Given the description of an element on the screen output the (x, y) to click on. 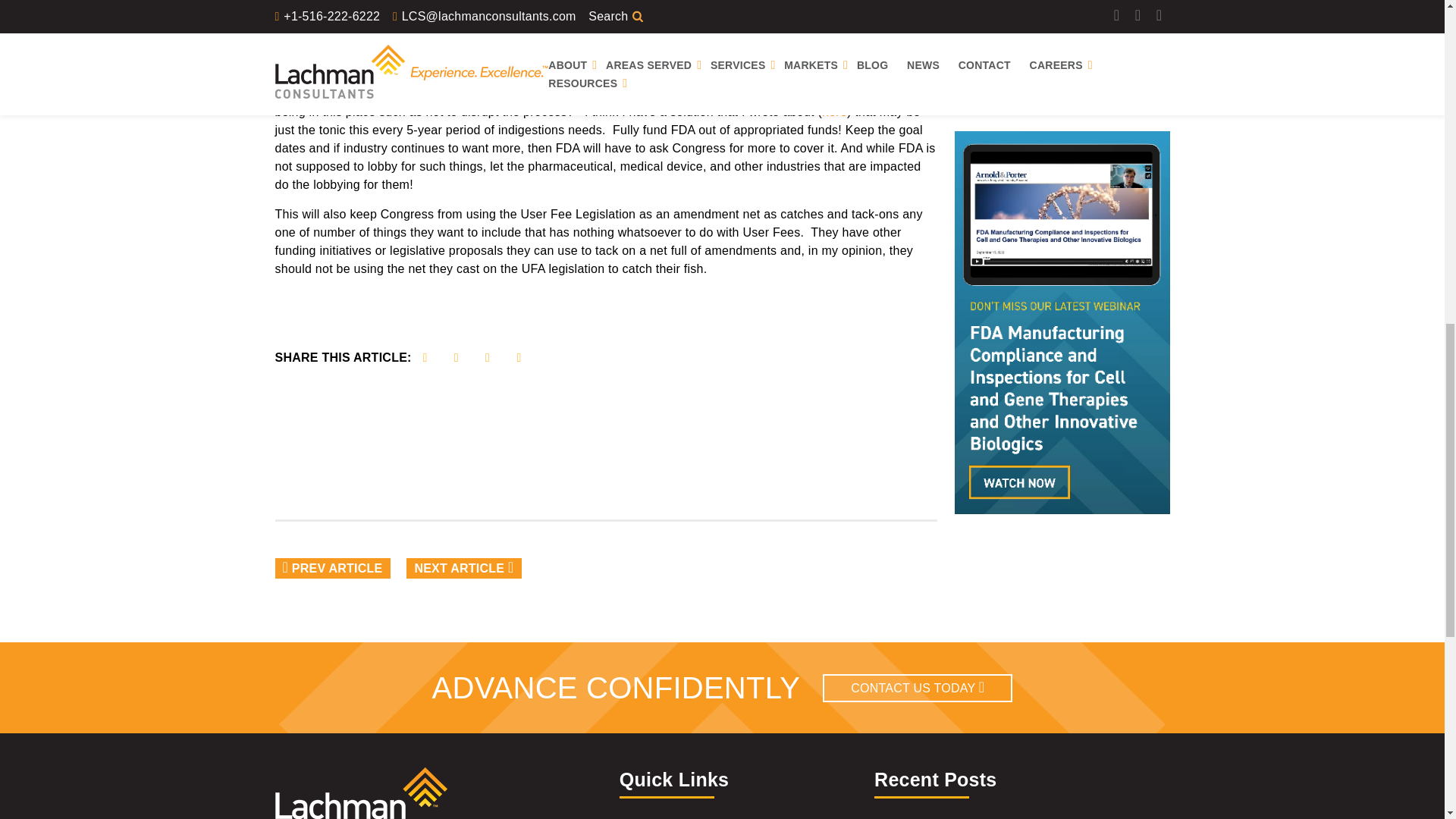
GET IN TOUCH (998, 94)
